Given the description of an element on the screen output the (x, y) to click on. 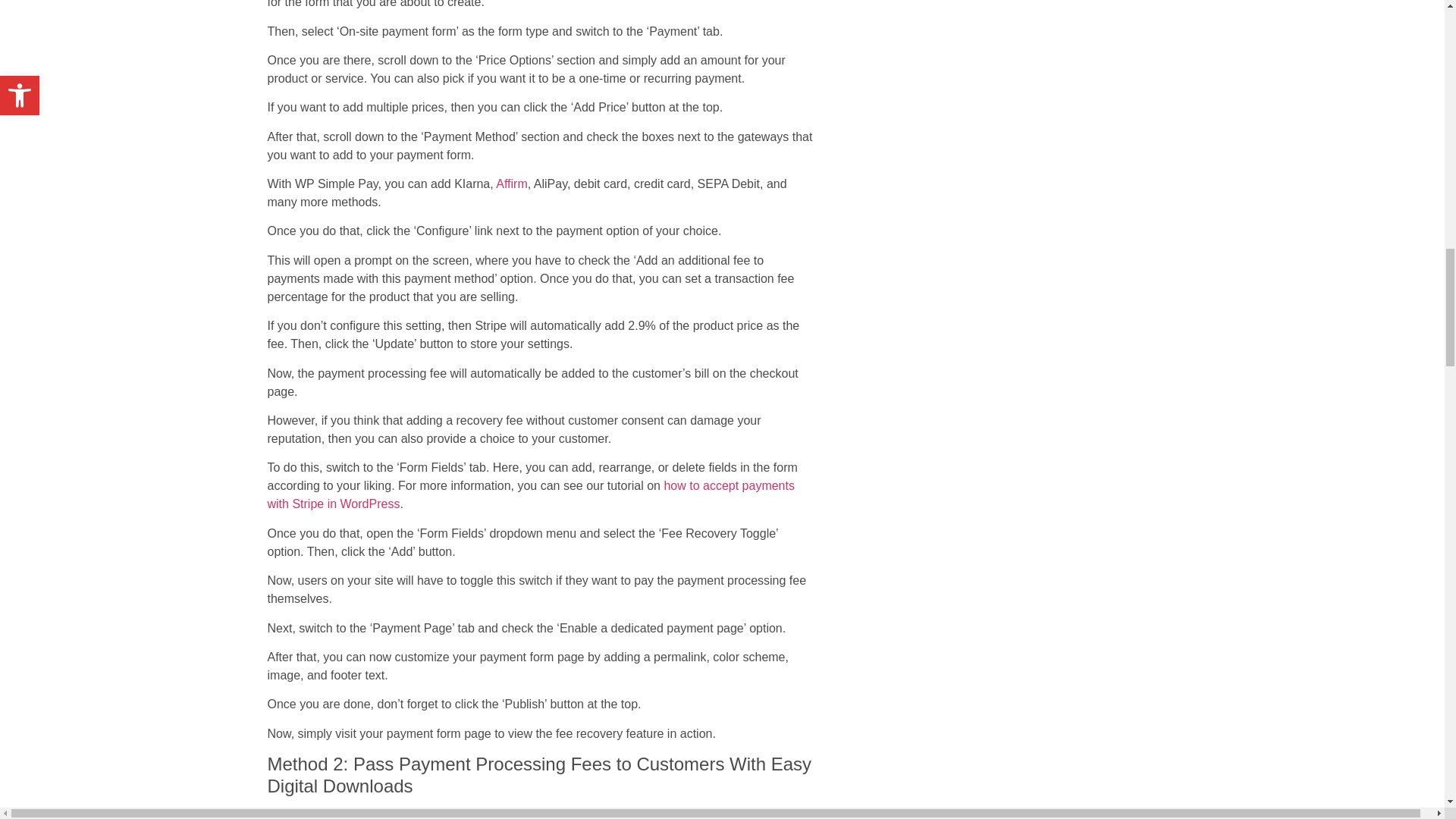
how to accept payments with Stripe in WordPress (529, 494)
How to Accept Payments with Stripe in WordPress (529, 494)
eBooks (448, 815)
Affirm (511, 183)
